Given the description of an element on the screen output the (x, y) to click on. 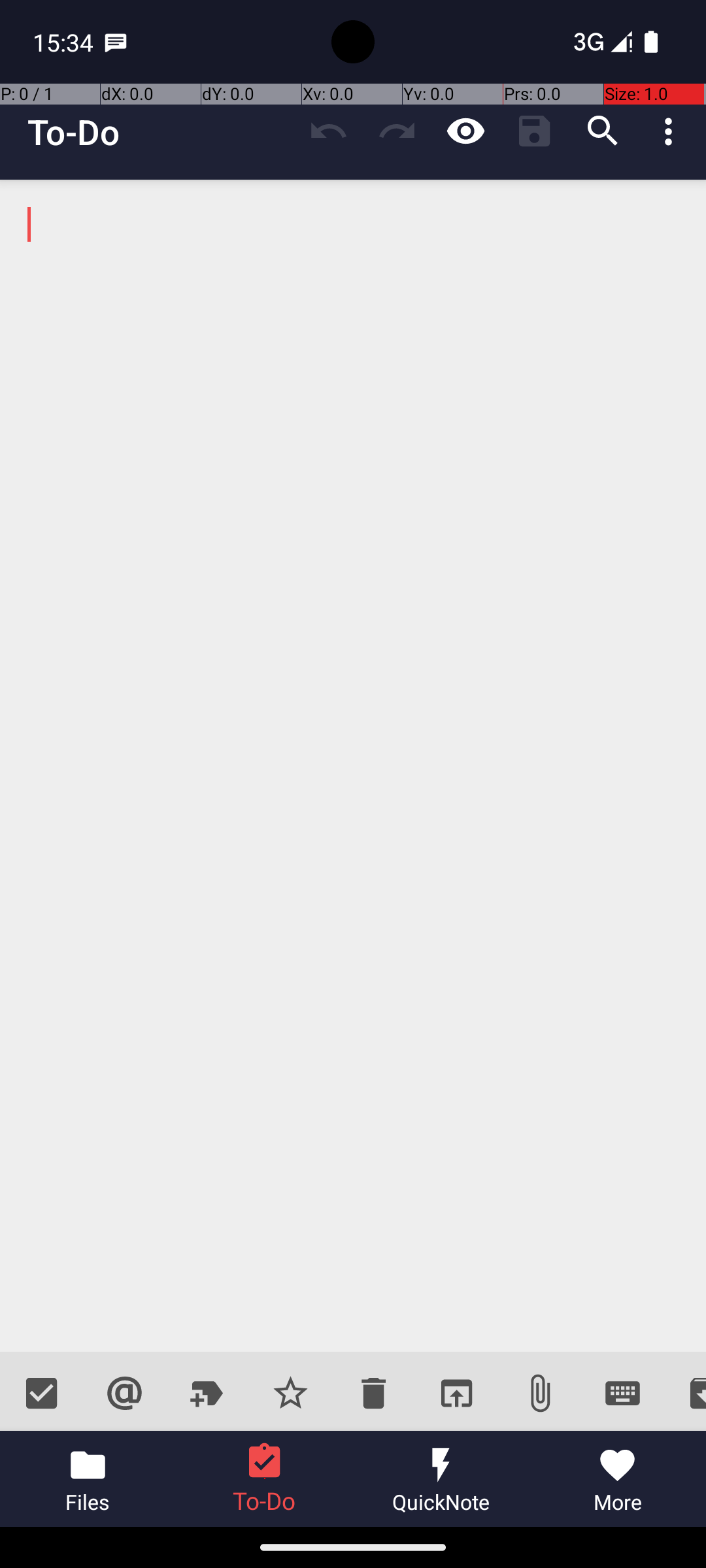
Toggle done Element type: android.widget.ImageView (41, 1392)
Add context Element type: android.widget.ImageView (124, 1392)
Add project Element type: android.widget.ImageView (207, 1392)
Priority Element type: android.widget.ImageView (290, 1392)
Archive completed tasks Element type: android.widget.ImageView (685, 1392)
